Given the description of an element on the screen output the (x, y) to click on. 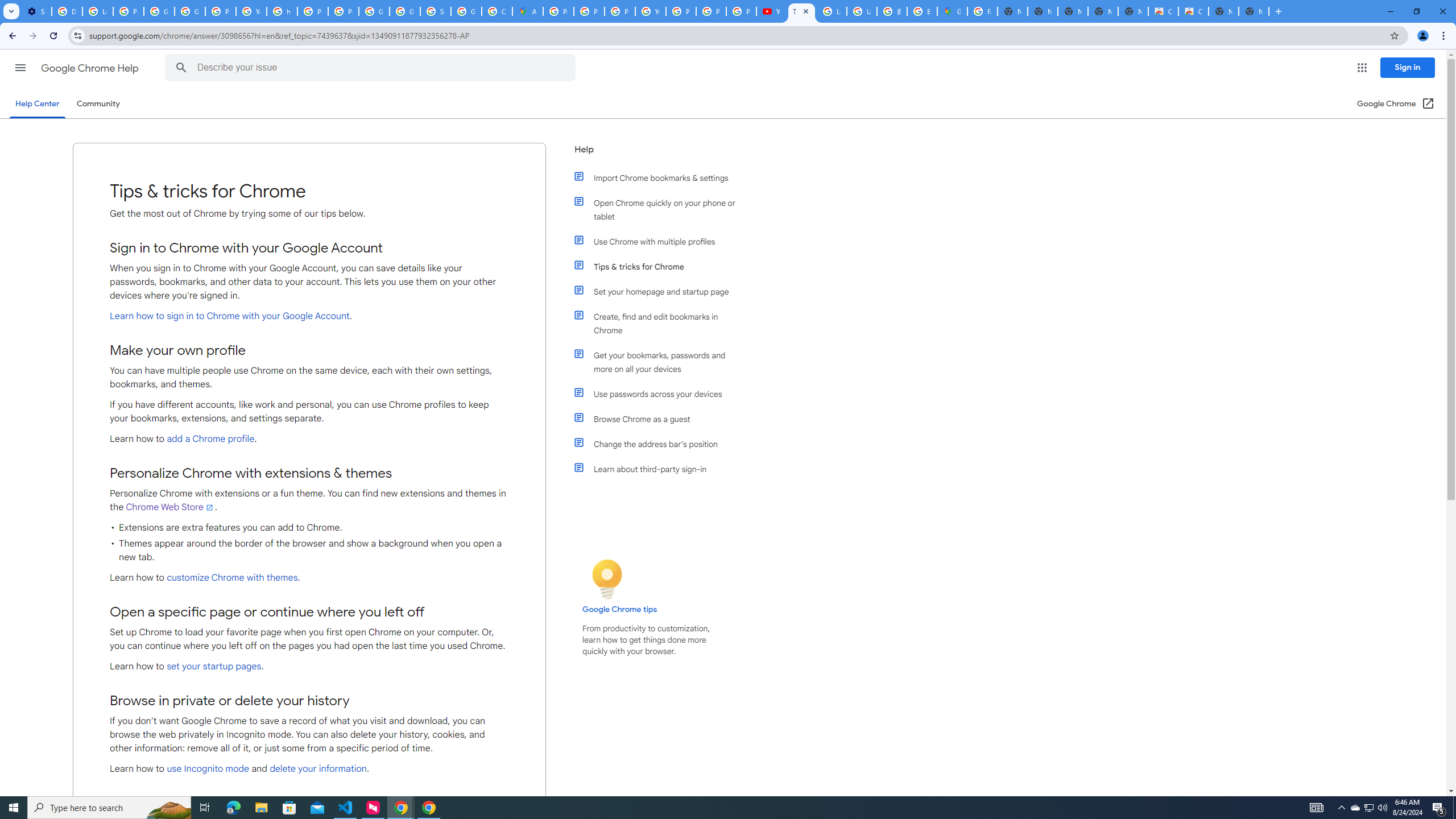
Google Maps (951, 11)
YouTube (650, 11)
Learn about third-party sign-in (661, 469)
Search Help Center (181, 67)
Privacy Help Center - Policies Help (619, 11)
Set your homepage and startup page (661, 291)
Privacy Checkup (740, 11)
Get your bookmarks, passwords and more on all your devices (661, 362)
Classic Blue - Chrome Web Store (1193, 11)
